Given the description of an element on the screen output the (x, y) to click on. 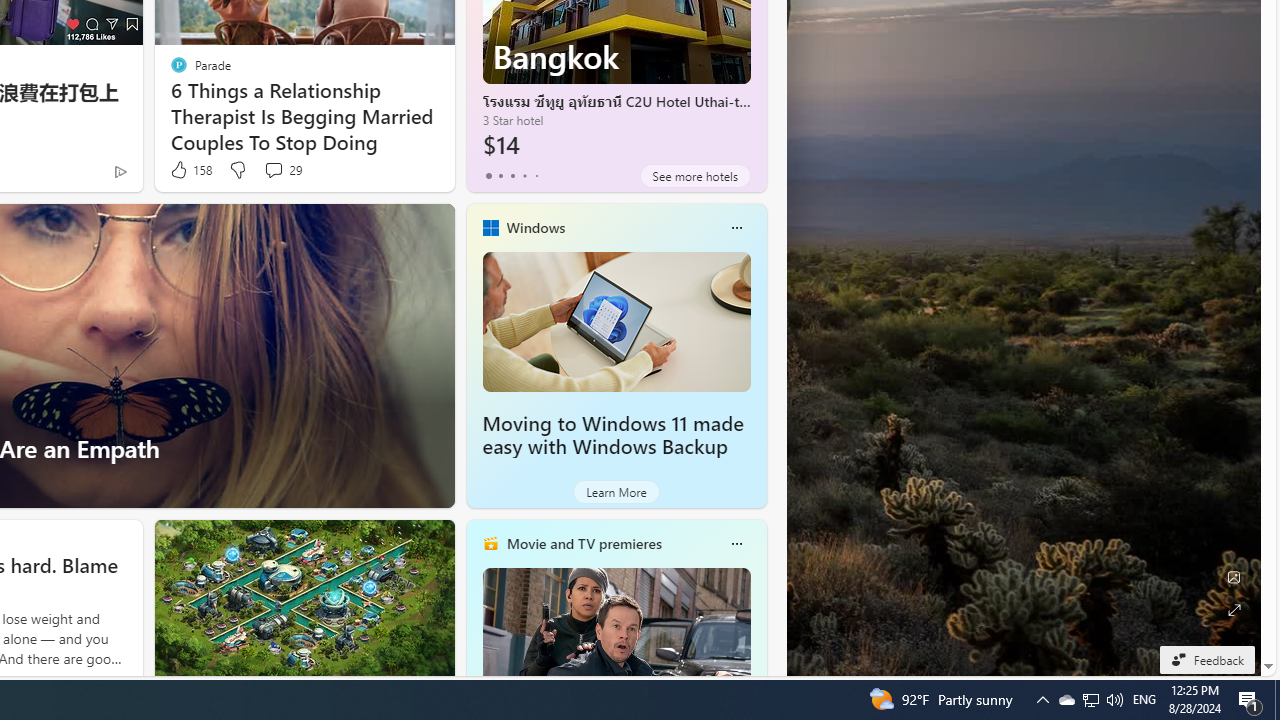
tab-1 (500, 175)
158 Like (190, 170)
Class: icon-img (736, 543)
Moving to Windows 11 made easy with Windows Backup (616, 321)
Learn More (616, 491)
Moving to Windows 11 made easy with Windows Backup (612, 435)
See more hotels (694, 175)
tab-0 (488, 175)
tab-3 (524, 175)
View comments 29 Comment (273, 169)
Windows (535, 227)
